Given the description of an element on the screen output the (x, y) to click on. 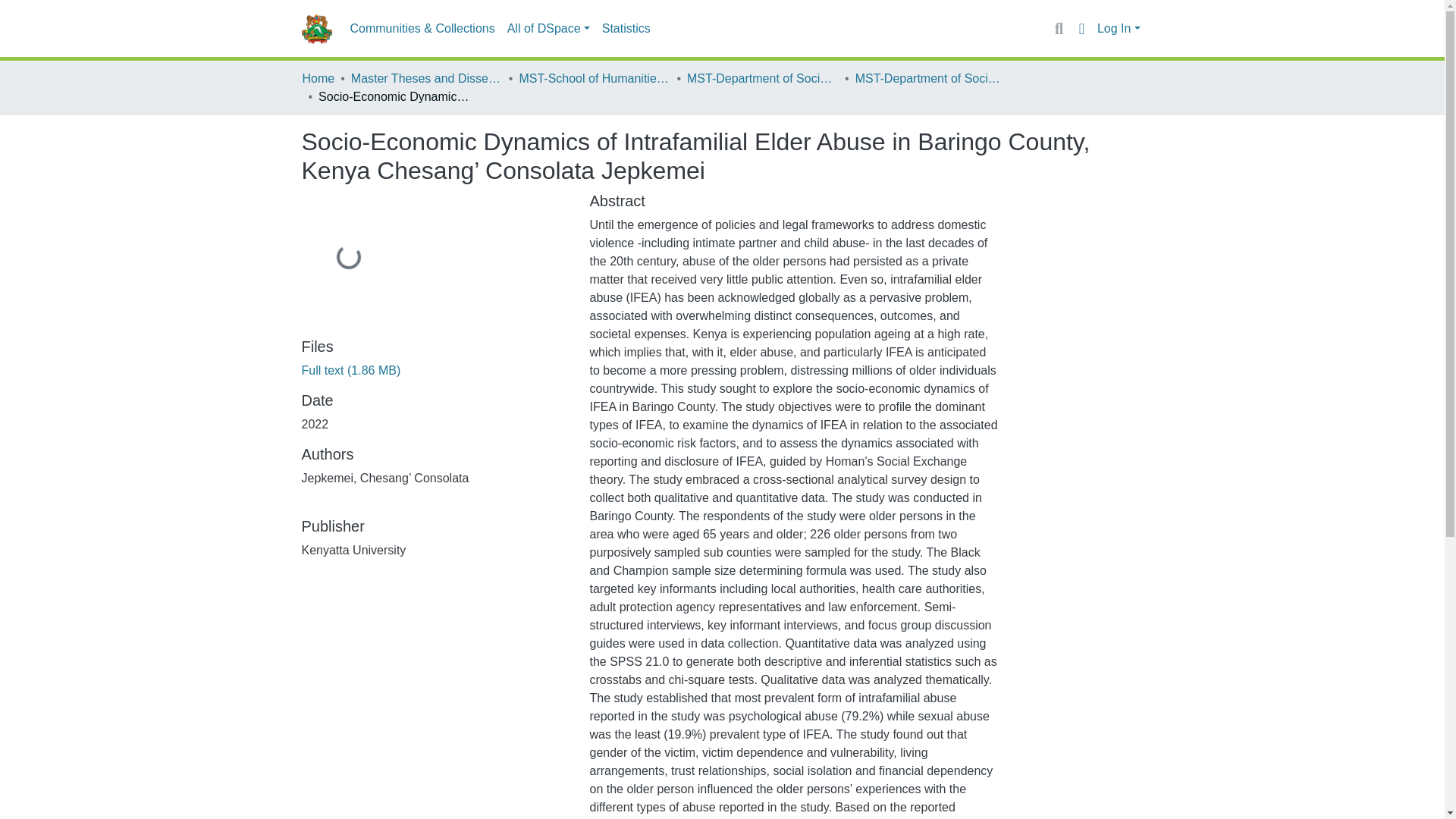
Log In (1118, 28)
MST-Department of Sociology (931, 78)
All of DSpace (547, 28)
Statistics (625, 28)
Search (1058, 28)
Statistics (625, 28)
Home (317, 78)
MST-Department of Sociology (762, 78)
MST-School of Humanities and Social Sciences (593, 78)
Language switch (1081, 28)
